Given the description of an element on the screen output the (x, y) to click on. 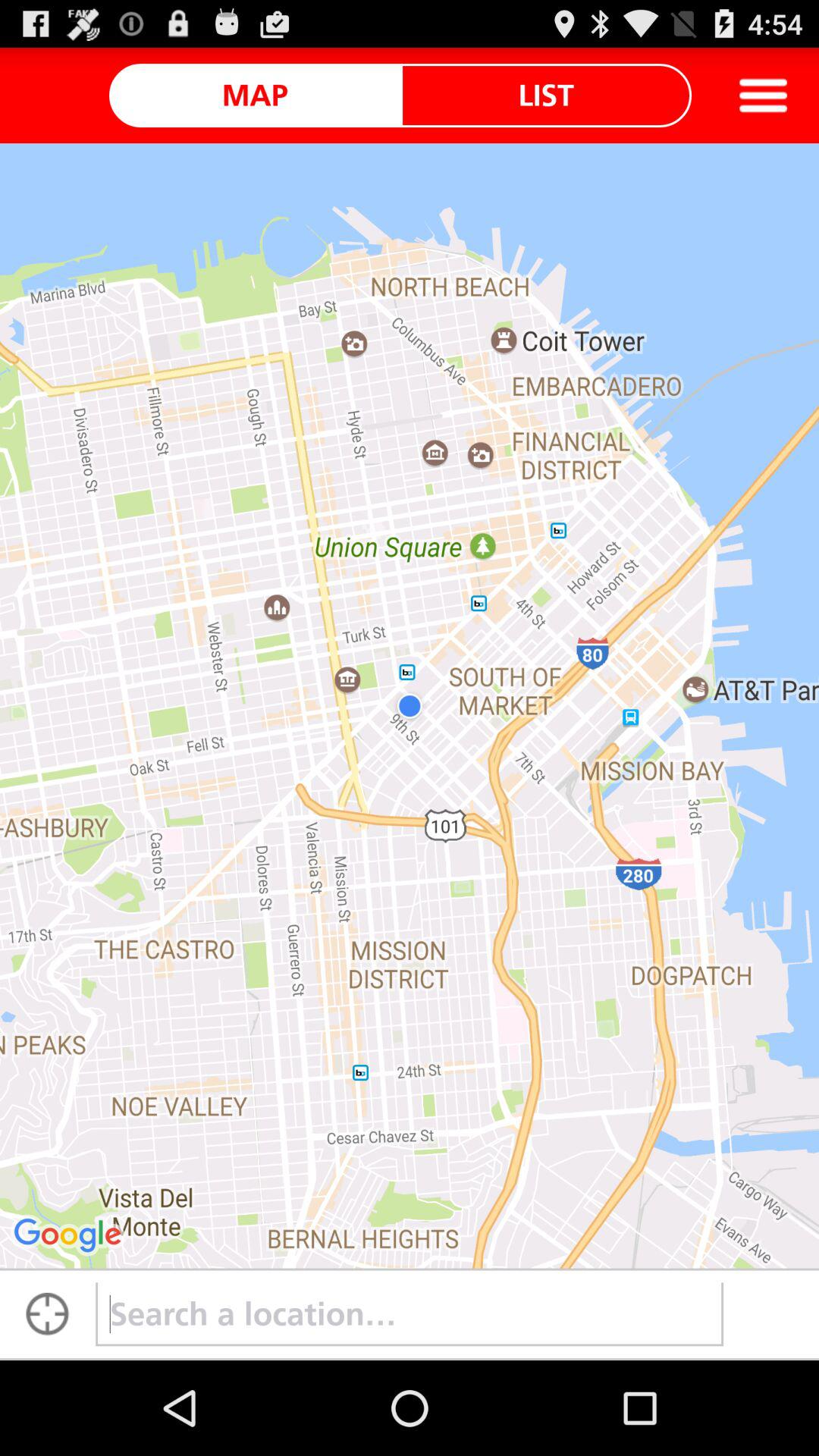
turn off icon to the right of the map (545, 95)
